Given the description of an element on the screen output the (x, y) to click on. 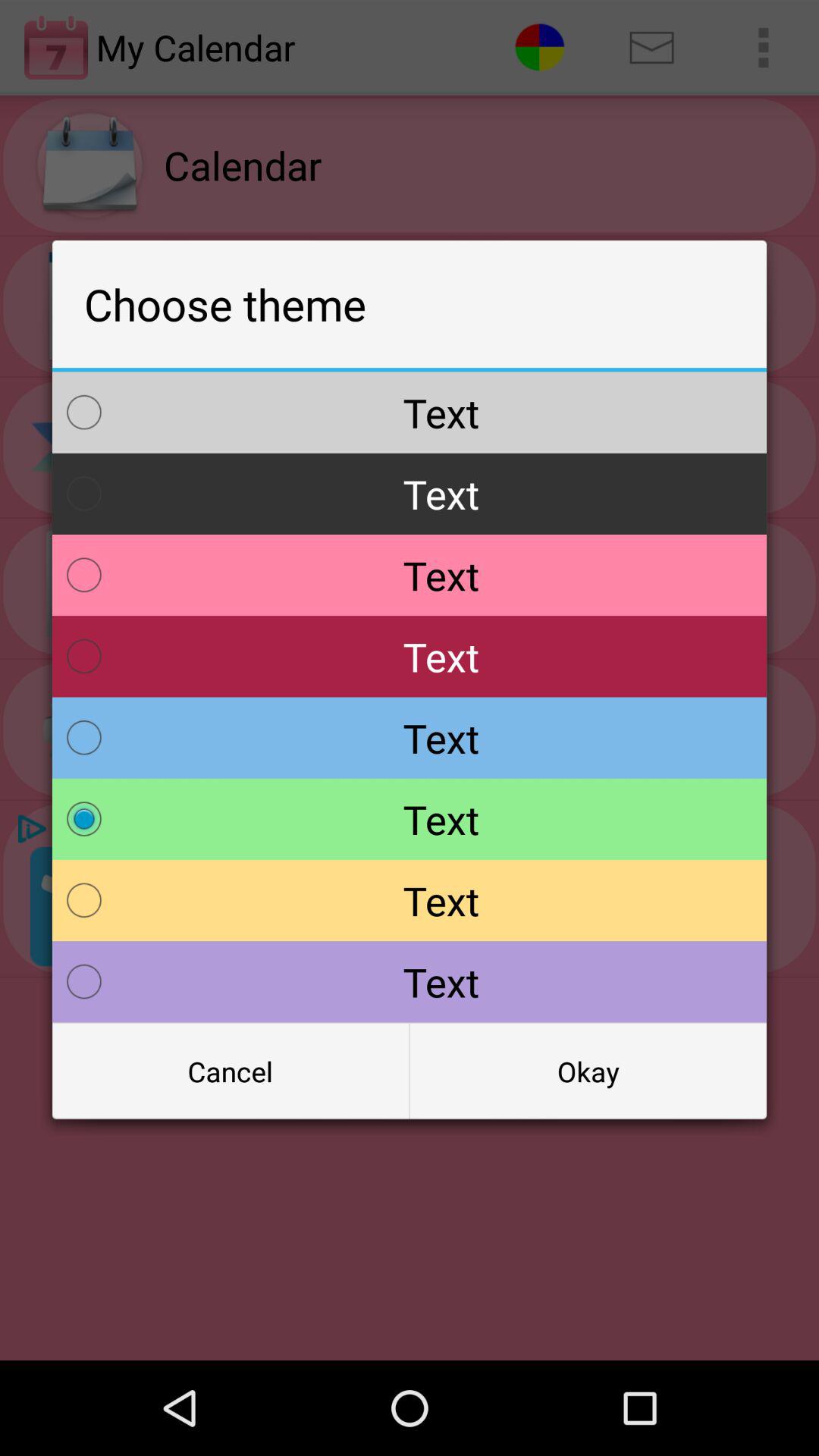
launch radio button below text radio button (230, 1071)
